Given the description of an element on the screen output the (x, y) to click on. 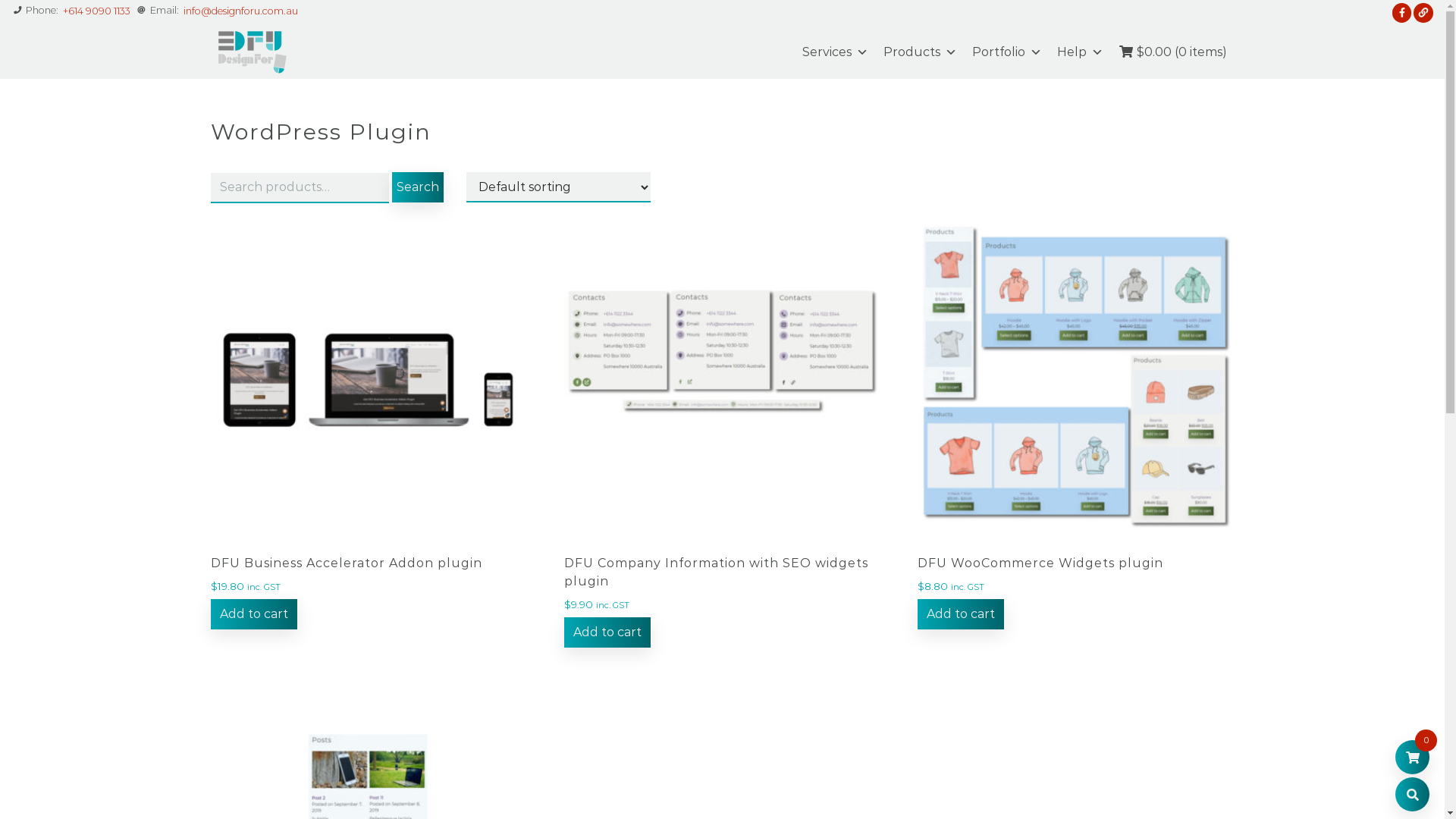
Product demo Element type: hover (1423, 13)
+614 9090 1133 Element type: text (96, 11)
Products Element type: text (919, 51)
Facebook Element type: hover (1402, 13)
$0.00 (0 items) Element type: text (1171, 51)
Add to cart Element type: text (253, 614)
Portfolio Element type: text (1006, 51)
DFU WooCommerce Widgets plugin
$8.80 inc. GST Element type: text (1074, 421)
Search Element type: text (1412, 794)
Search Element type: text (416, 187)
Add to cart Element type: text (960, 614)
Help Element type: text (1079, 51)
Services Element type: text (834, 51)
View your shopping cart
0 Element type: text (1412, 757)
DFU Business Accelerator Addon plugin
$19.80 inc. GST Element type: text (367, 421)
info@designforu.com.au Element type: text (240, 11)
Add to cart Element type: text (607, 632)
